Given the description of an element on the screen output the (x, y) to click on. 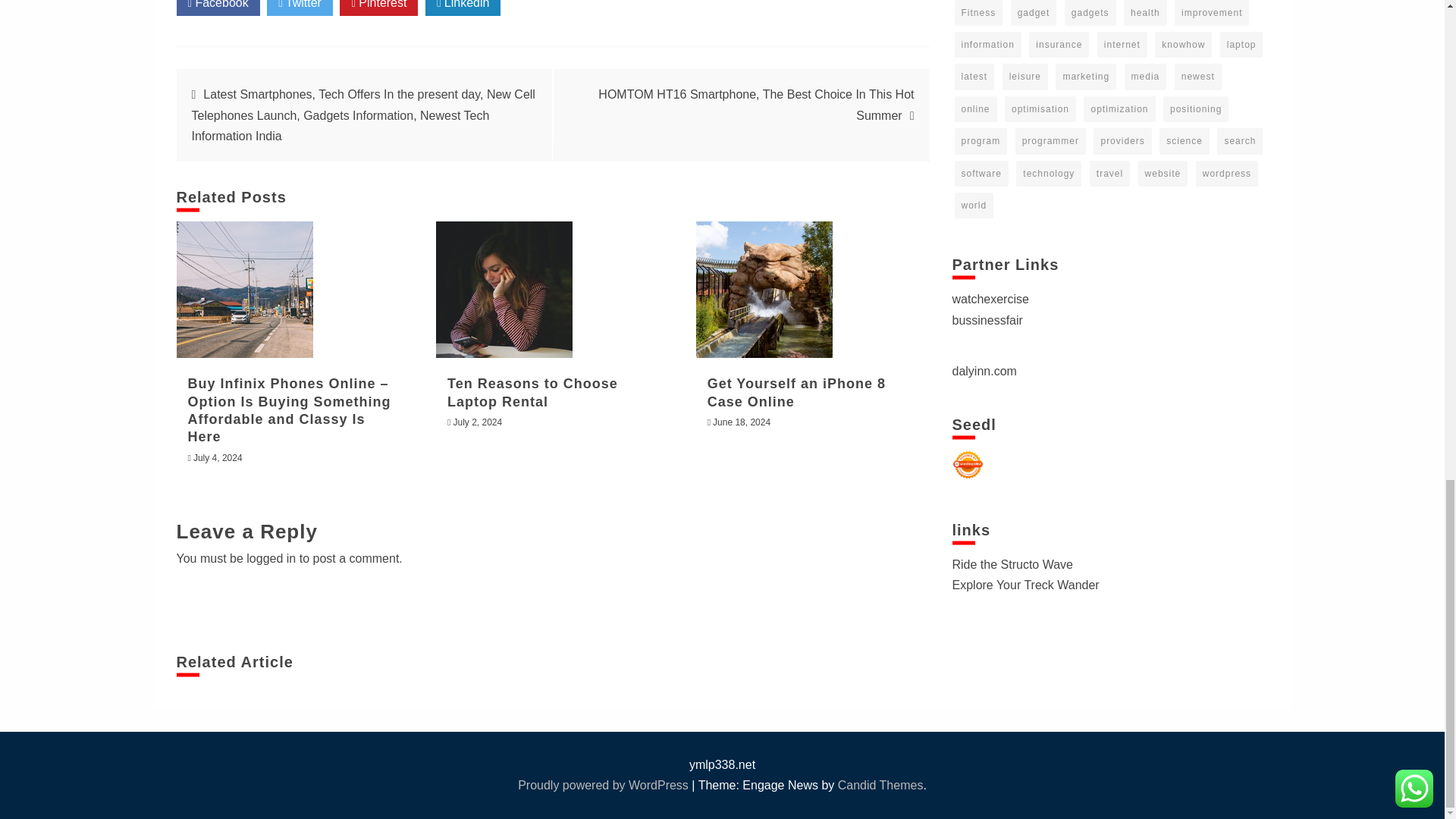
June 18, 2024 (741, 421)
July 4, 2024 (218, 457)
July 2, 2024 (477, 421)
Linkedin (462, 7)
Get Yourself an iPhone 8 Case Online (763, 289)
Pinterest (378, 7)
Facebook (217, 7)
HOMTOM HT16 Smartphone, The Best Choice In This Hot Summer (756, 104)
Get Yourself an iPhone 8 Case Online (796, 391)
logged in (270, 558)
Seedbacklink (968, 464)
Ten Reasons to Choose Laptop Rental (503, 289)
Twitter (299, 7)
Ten Reasons to Choose Laptop Rental (531, 391)
